Given the description of an element on the screen output the (x, y) to click on. 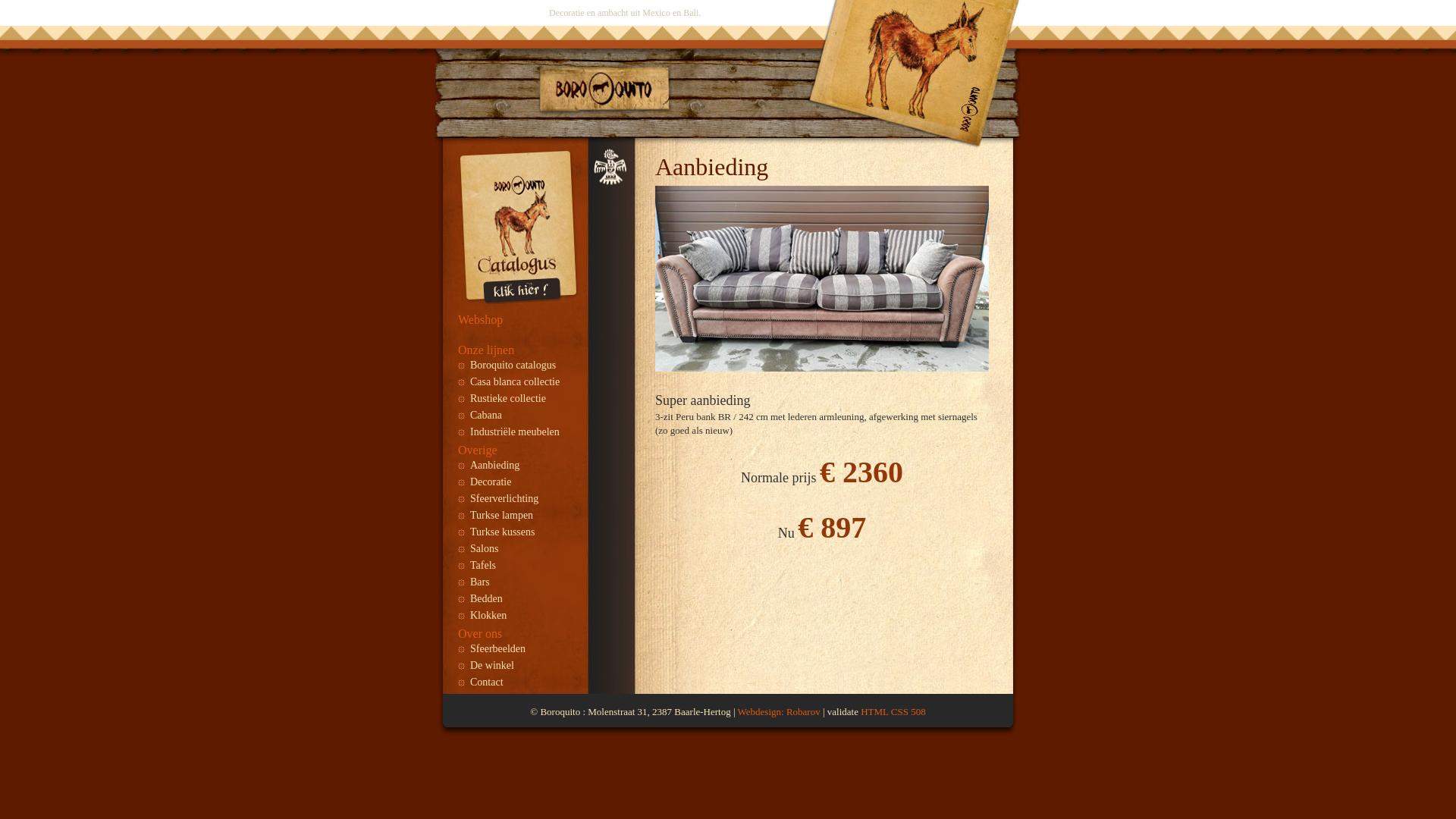
De winkel Element type: text (518, 666)
Onze cataloog Element type: hover (520, 302)
Rustieke collectie Element type: text (518, 399)
Turkse kussens Element type: text (518, 532)
Tafels Element type: text (518, 566)
Sfeerverlichting Element type: text (518, 499)
Klokken Element type: text (518, 616)
Sfeerbeelden Element type: text (518, 649)
HTML Element type: text (874, 711)
Boroquito catalogus Element type: text (518, 365)
Casa blanca collectie Element type: text (518, 382)
Bars Element type: text (518, 582)
Bedden Element type: text (518, 599)
Aanbieding Element type: text (518, 465)
Webshop Element type: text (480, 319)
CSS Element type: text (899, 711)
Turkse lampen Element type: text (518, 516)
Cabana Element type: text (518, 415)
508 Element type: text (917, 711)
Salons Element type: text (518, 549)
Decoratie Element type: text (518, 482)
Mexicaanse grenen meubelen van Boroquito Element type: text (606, 88)
Contact Element type: text (518, 682)
Webdesign: Robarov Element type: text (778, 711)
